Given the description of an element on the screen output the (x, y) to click on. 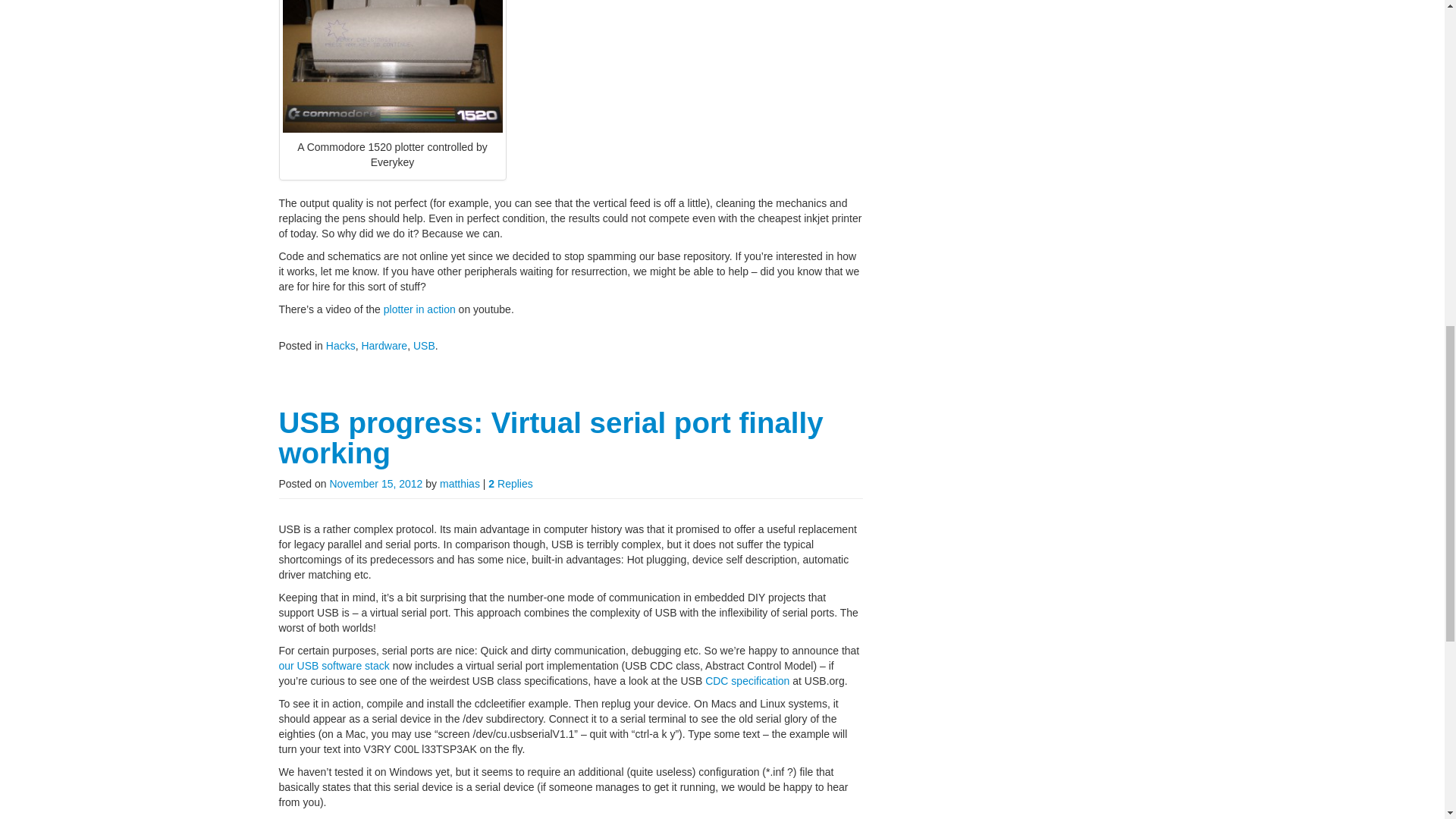
Hardware (384, 345)
USB (424, 345)
our USB software stack (334, 665)
View all posts by matthias (459, 483)
plotter in action (419, 309)
USB progress: Virtual serial port finally working (551, 437)
CDC specification (746, 680)
CDC Spec (746, 680)
November 15, 2012 (375, 483)
